Given the description of an element on the screen output the (x, y) to click on. 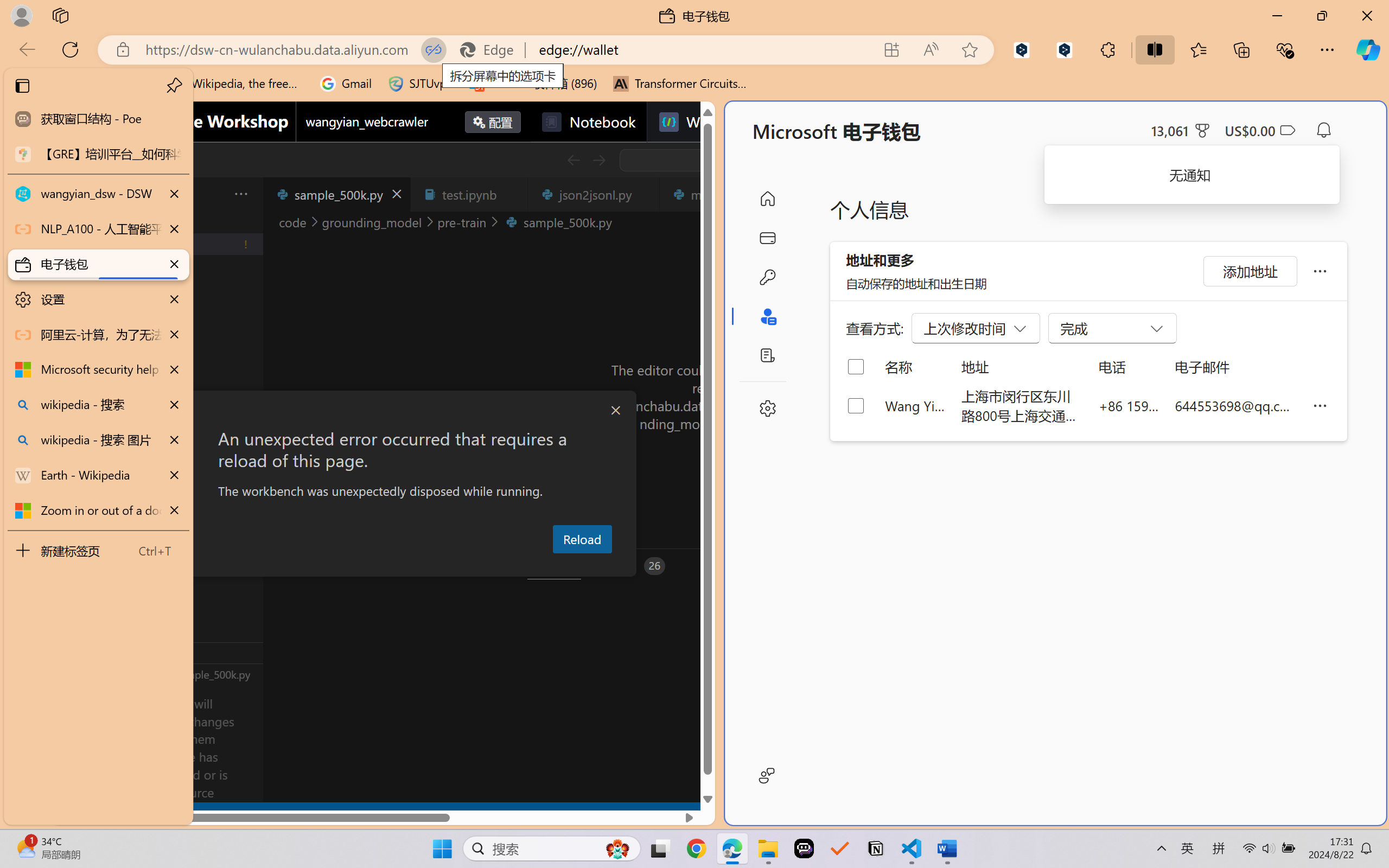
No Problems (115, 812)
Microsoft security help and learning (97, 369)
Debug Console (Ctrl+Shift+Y) (463, 565)
Go Back (Alt+LeftArrow) (573, 159)
